Given the description of an element on the screen output the (x, y) to click on. 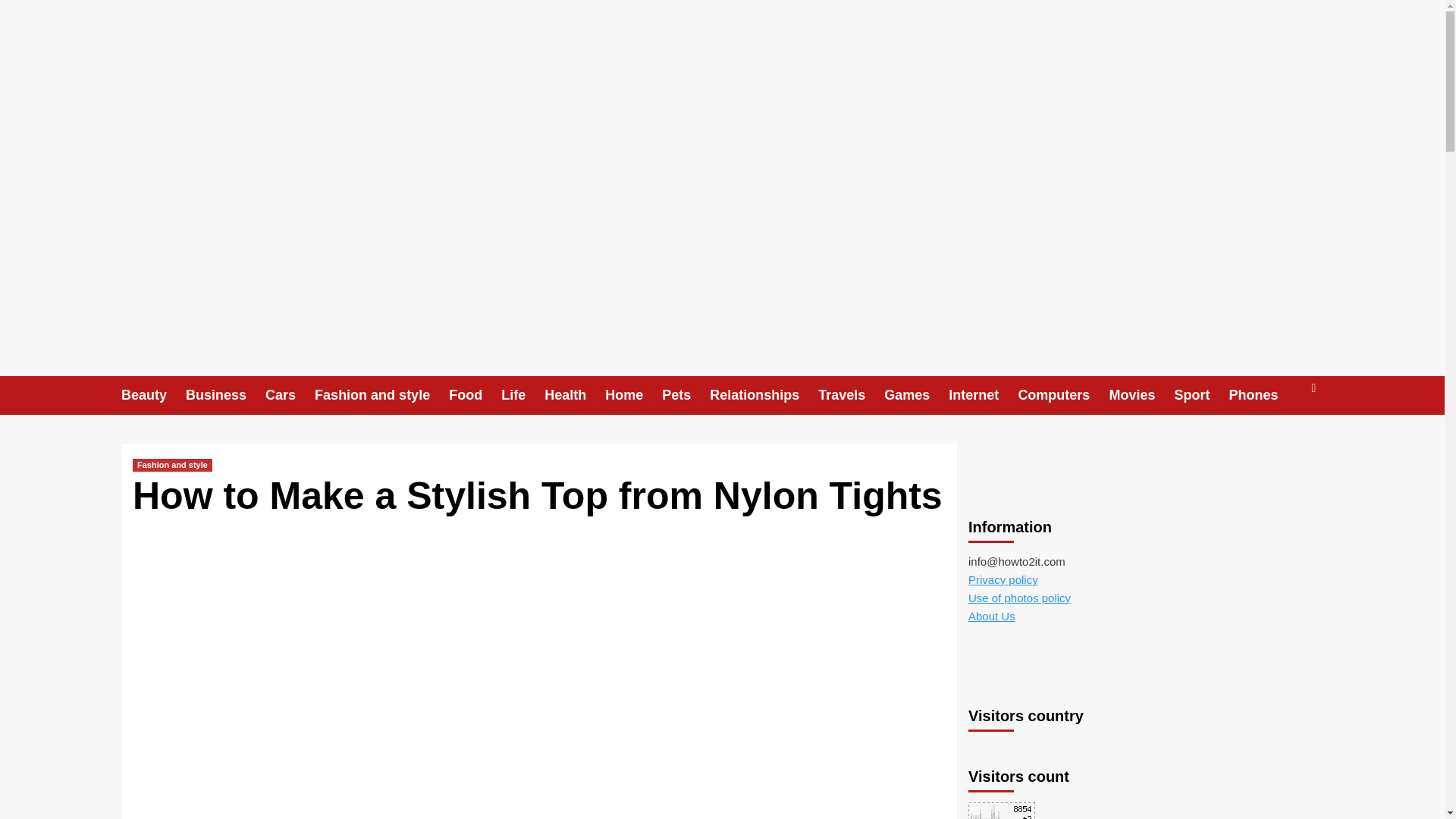
Home (633, 394)
Health (574, 394)
Privacy policy (1003, 579)
Travels (850, 394)
Movies (1140, 394)
Sport (1200, 394)
Food (474, 394)
Pets (686, 394)
Beauty (153, 394)
Fashion and style (381, 394)
Search (1278, 441)
Use of photos policy (1019, 597)
Life (522, 394)
Cars (289, 394)
Computers (1062, 394)
